Given the description of an element on the screen output the (x, y) to click on. 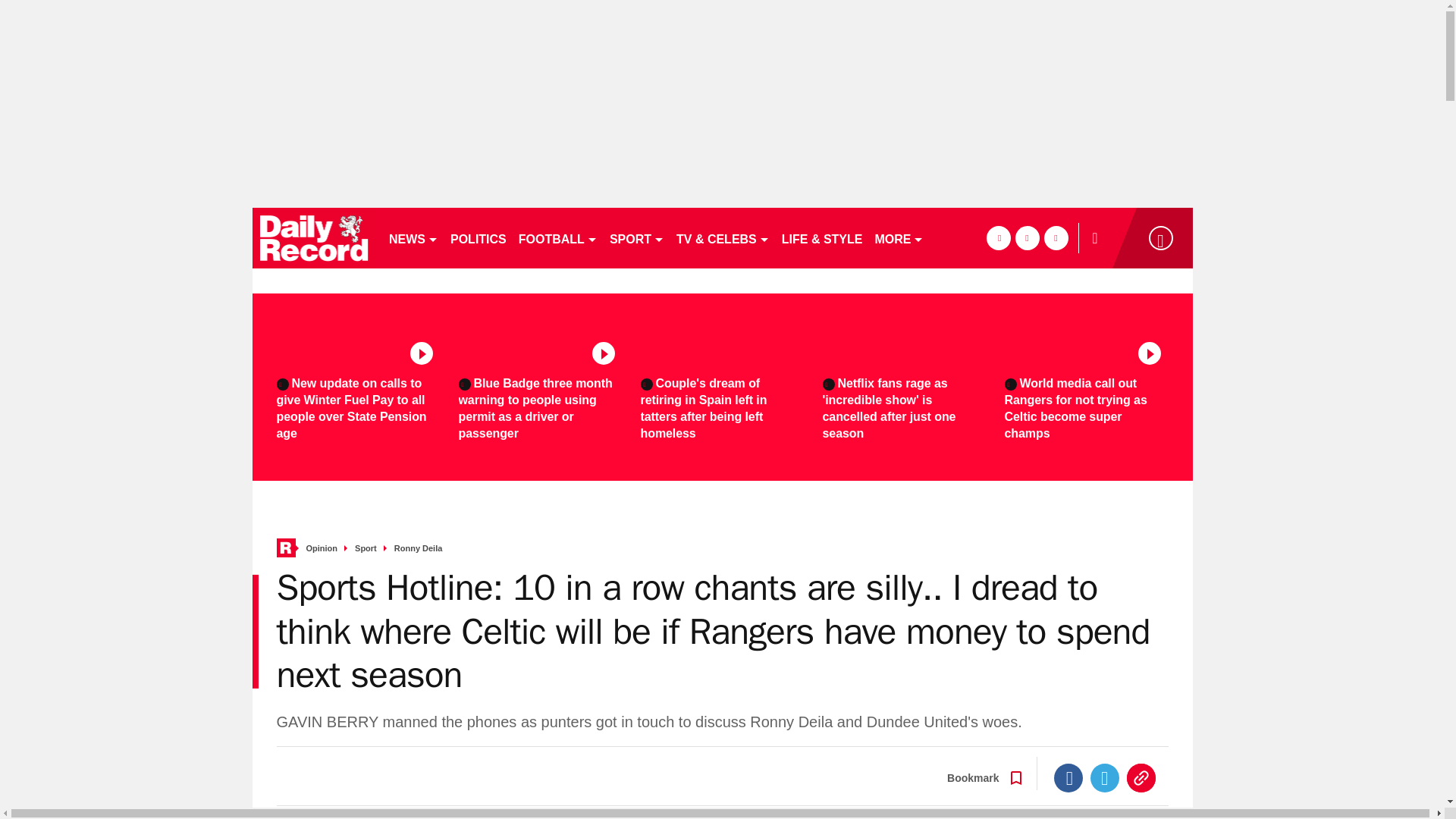
POLITICS (478, 238)
FOOTBALL (558, 238)
twitter (1026, 238)
Twitter (1104, 777)
NEWS (413, 238)
Facebook (1068, 777)
dailyrecord (313, 238)
SPORT (636, 238)
instagram (1055, 238)
facebook (997, 238)
